Given the description of an element on the screen output the (x, y) to click on. 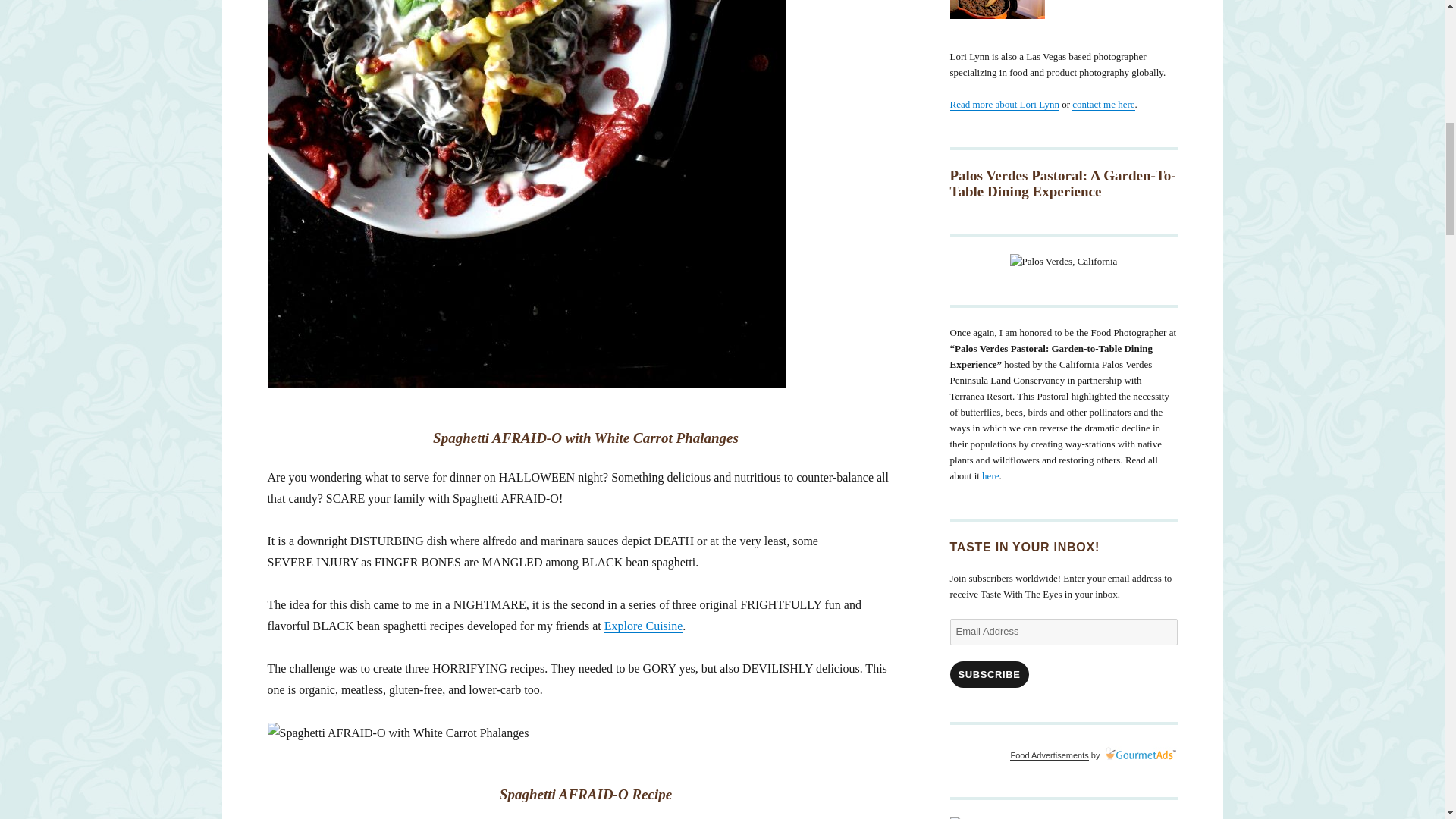
Food Advertisements (1048, 755)
Explore Cuisine (643, 625)
